Given the description of an element on the screen output the (x, y) to click on. 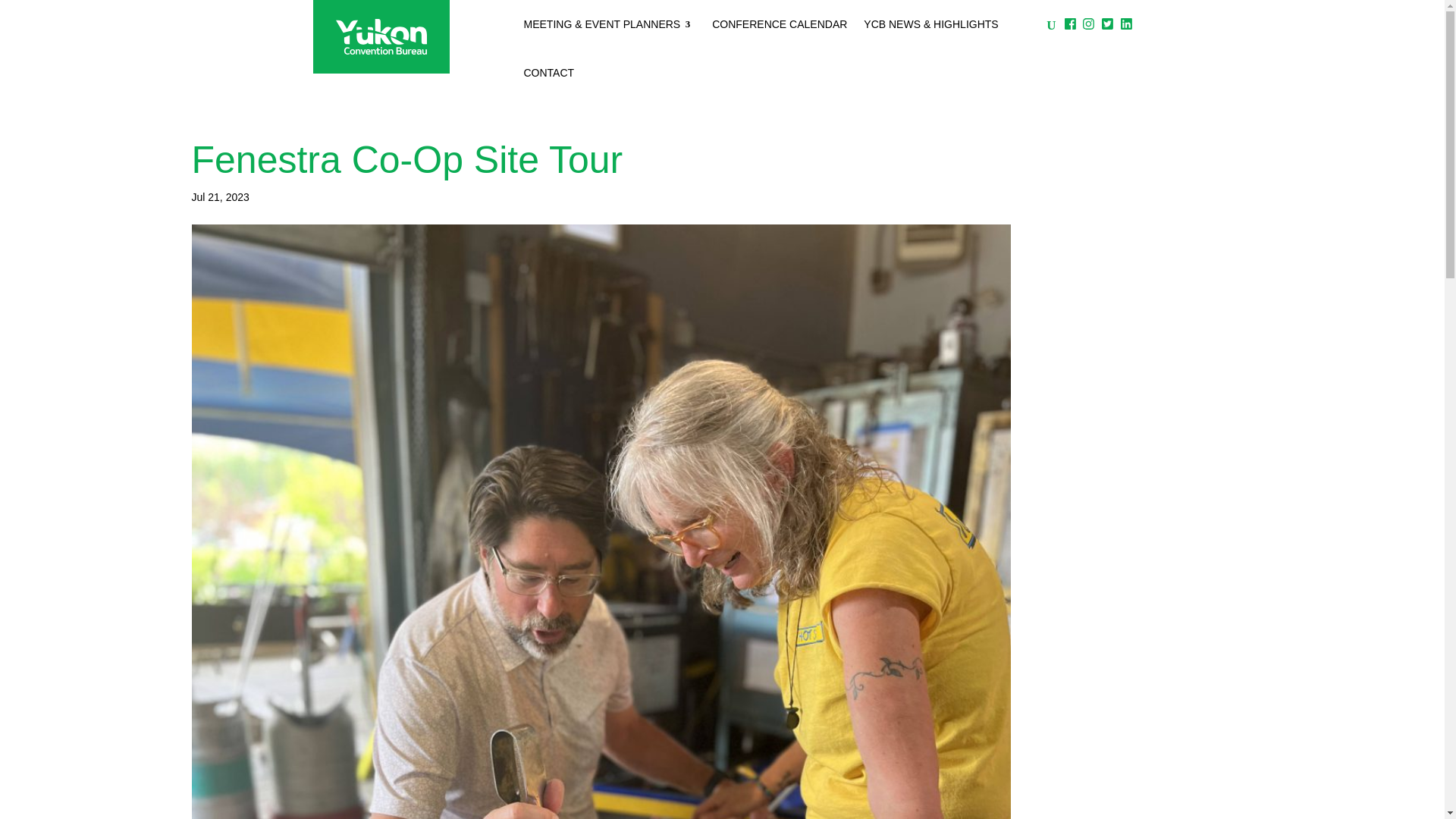
CONFERENCE CALENDAR (779, 24)
ycb-logo (380, 36)
CONTACT (547, 72)
